Given the description of an element on the screen output the (x, y) to click on. 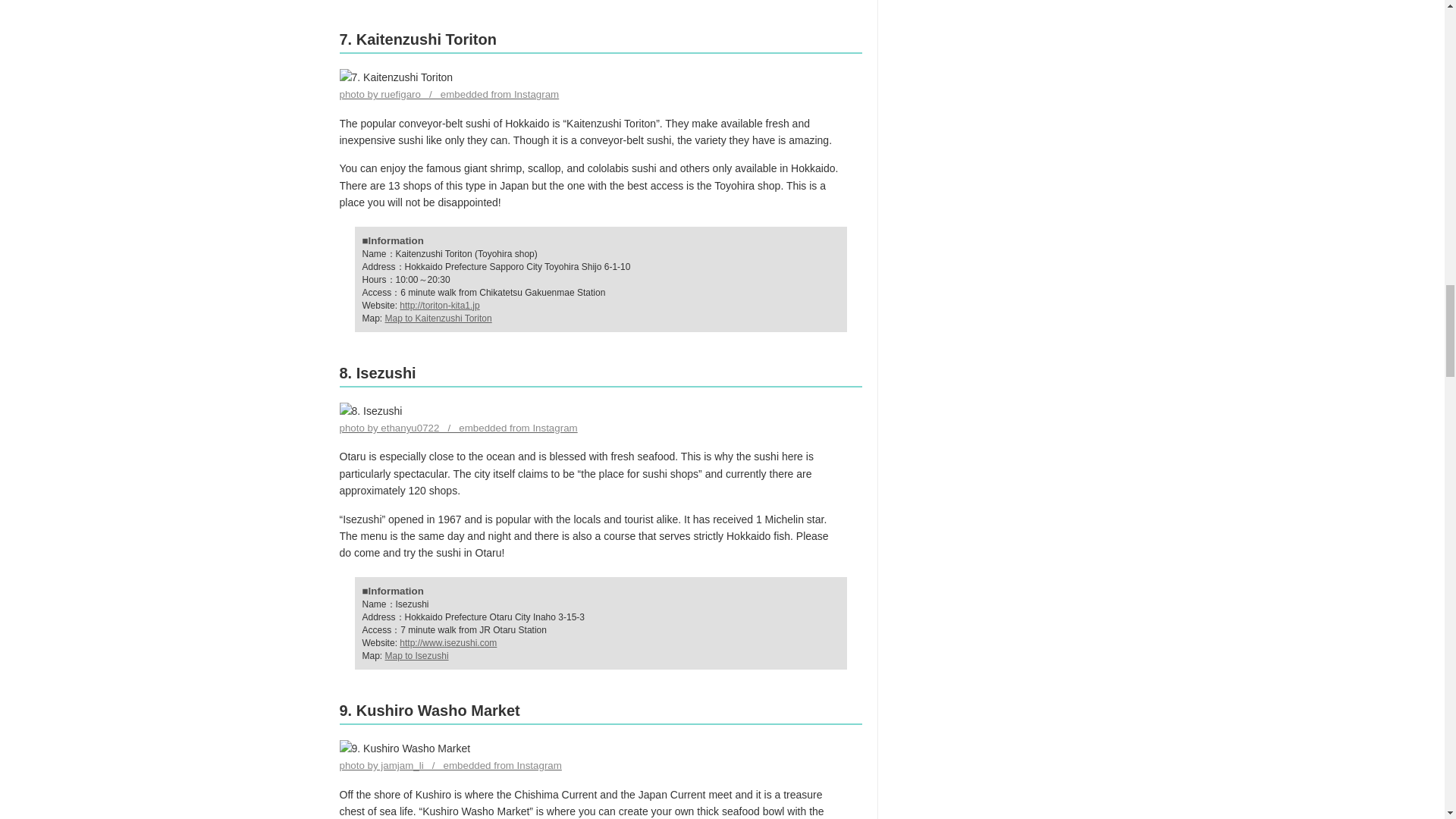
8. Isezushi (371, 410)
9. Kushiro Washo Market (404, 748)
7. Kaitenzushi Toriton (395, 76)
Map to Isezushi (416, 655)
Map to Kaitenzushi Toriton (438, 317)
